Given the description of an element on the screen output the (x, y) to click on. 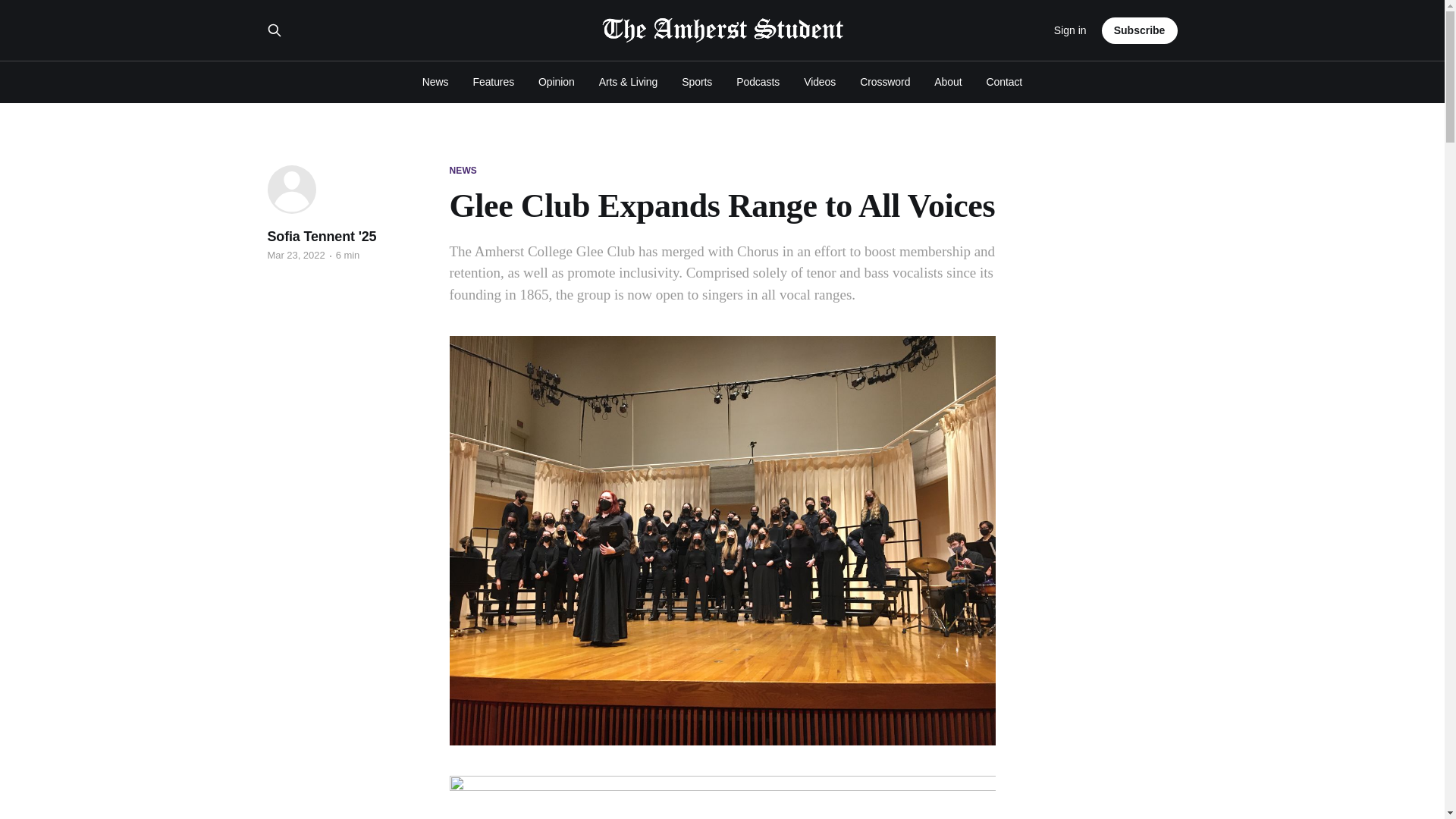
News (435, 81)
About (947, 81)
Features (492, 81)
Opinion (556, 81)
Sofia Tennent '25 (320, 236)
NEWS (462, 170)
Videos (819, 81)
Podcasts (757, 81)
Sports (696, 81)
Contact (1005, 81)
